Given the description of an element on the screen output the (x, y) to click on. 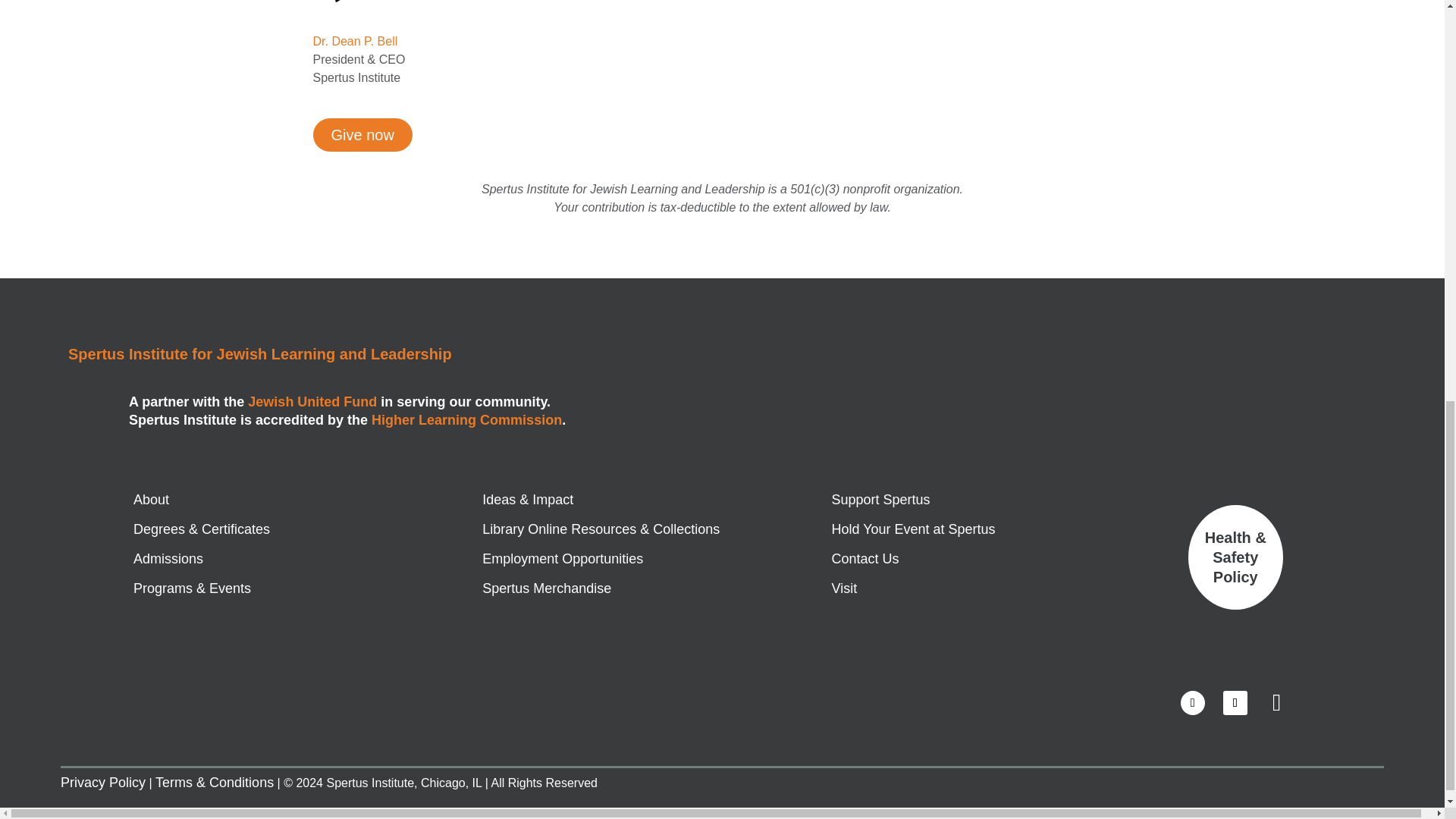
Follow on Instagram (1276, 702)
Follow on Facebook (1192, 702)
Follow on LinkedIn (1235, 702)
